Given the description of an element on the screen output the (x, y) to click on. 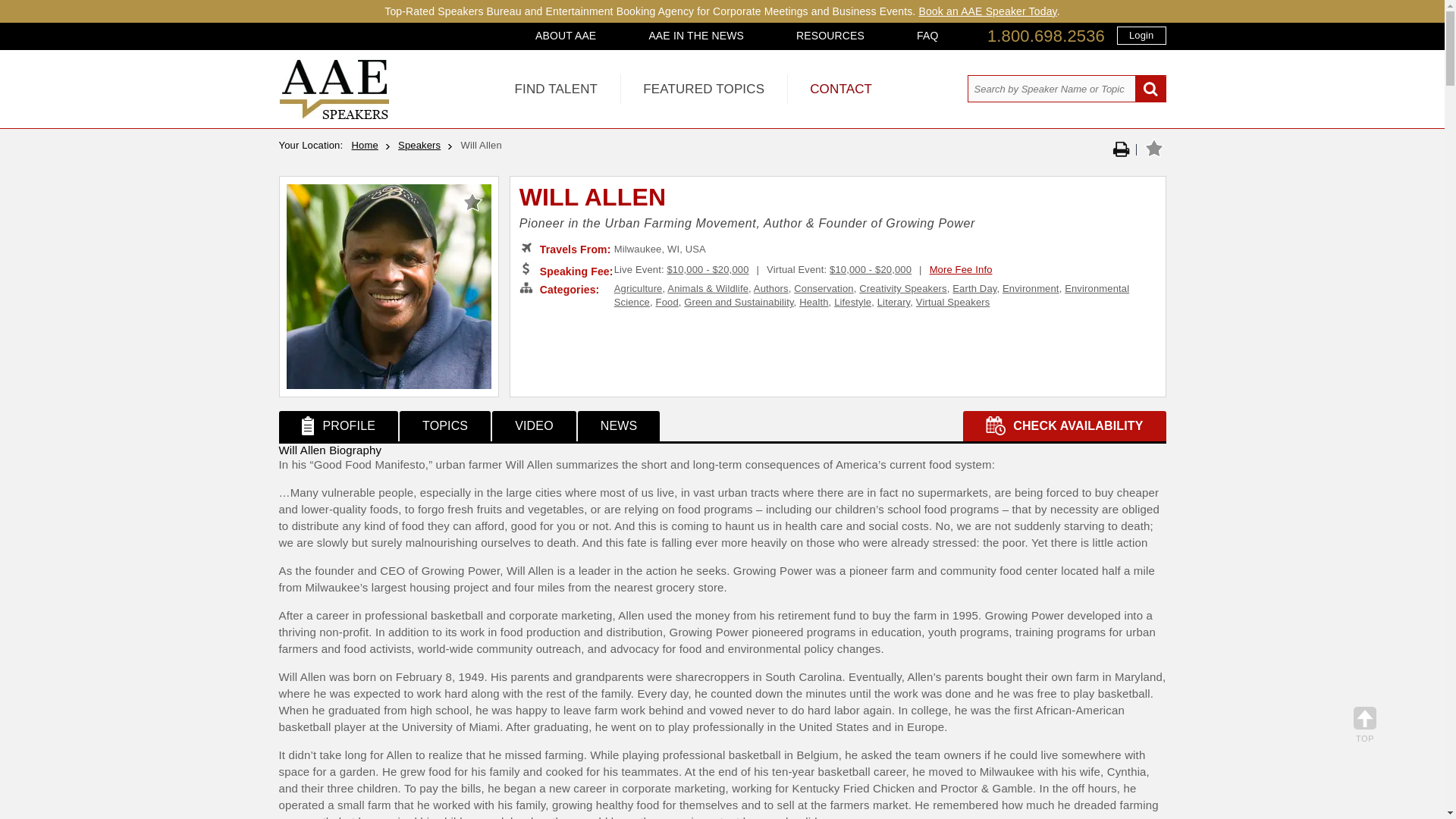
AAE IN THE NEWS (695, 34)
RESOURCES (829, 34)
1.800.698.2536 (1046, 35)
ABOUT AAE (565, 34)
All American Speakers Bureau and Celebrity Booking Agency (334, 115)
Login (1141, 35)
Book an AAE Speaker Today (987, 10)
FAQ (927, 34)
Search (1150, 89)
